Given the description of an element on the screen output the (x, y) to click on. 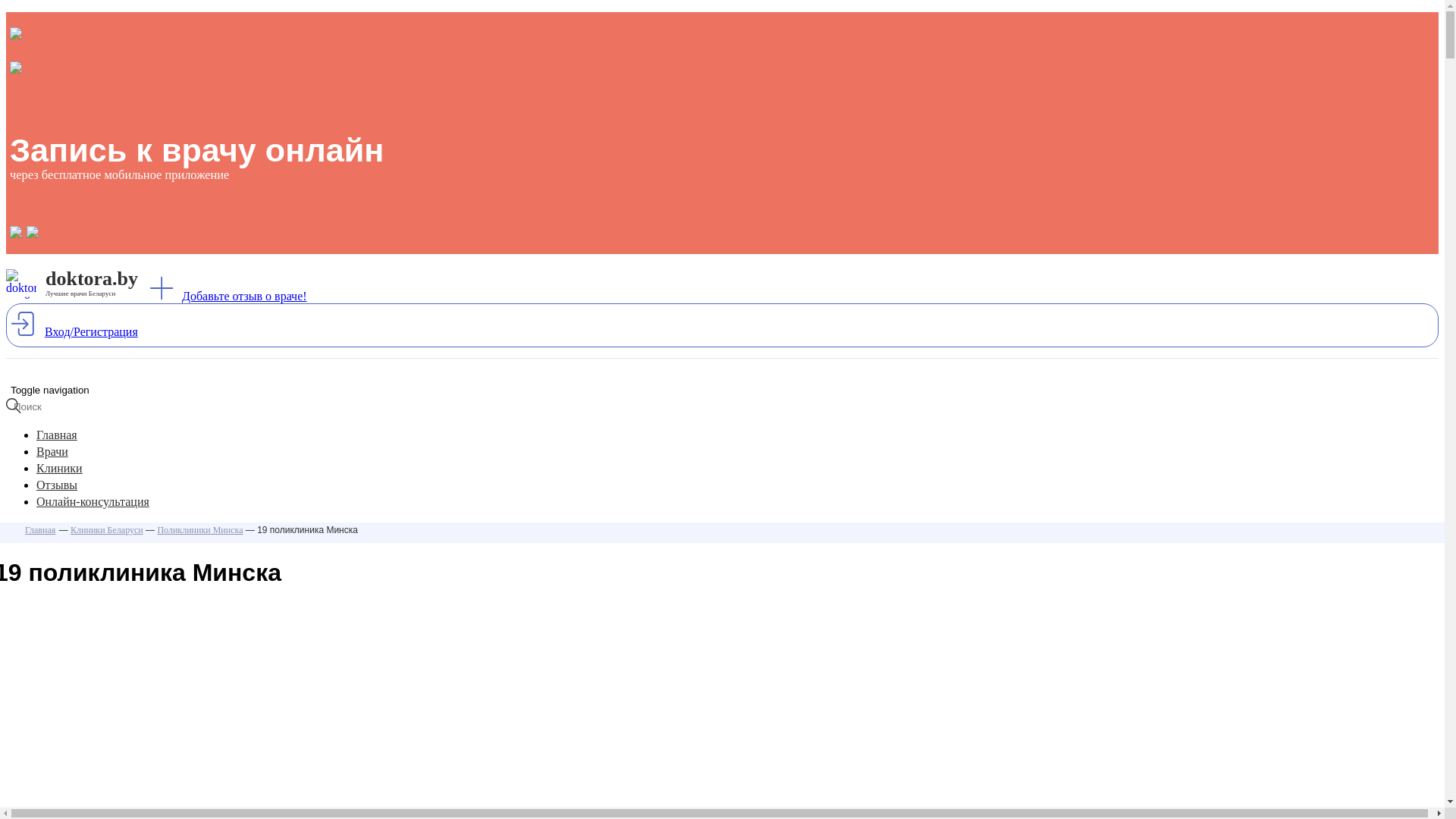
Rate Element type: text (16, 7)
Toggle navigation Element type: text (50, 389)
